Given the description of an element on the screen output the (x, y) to click on. 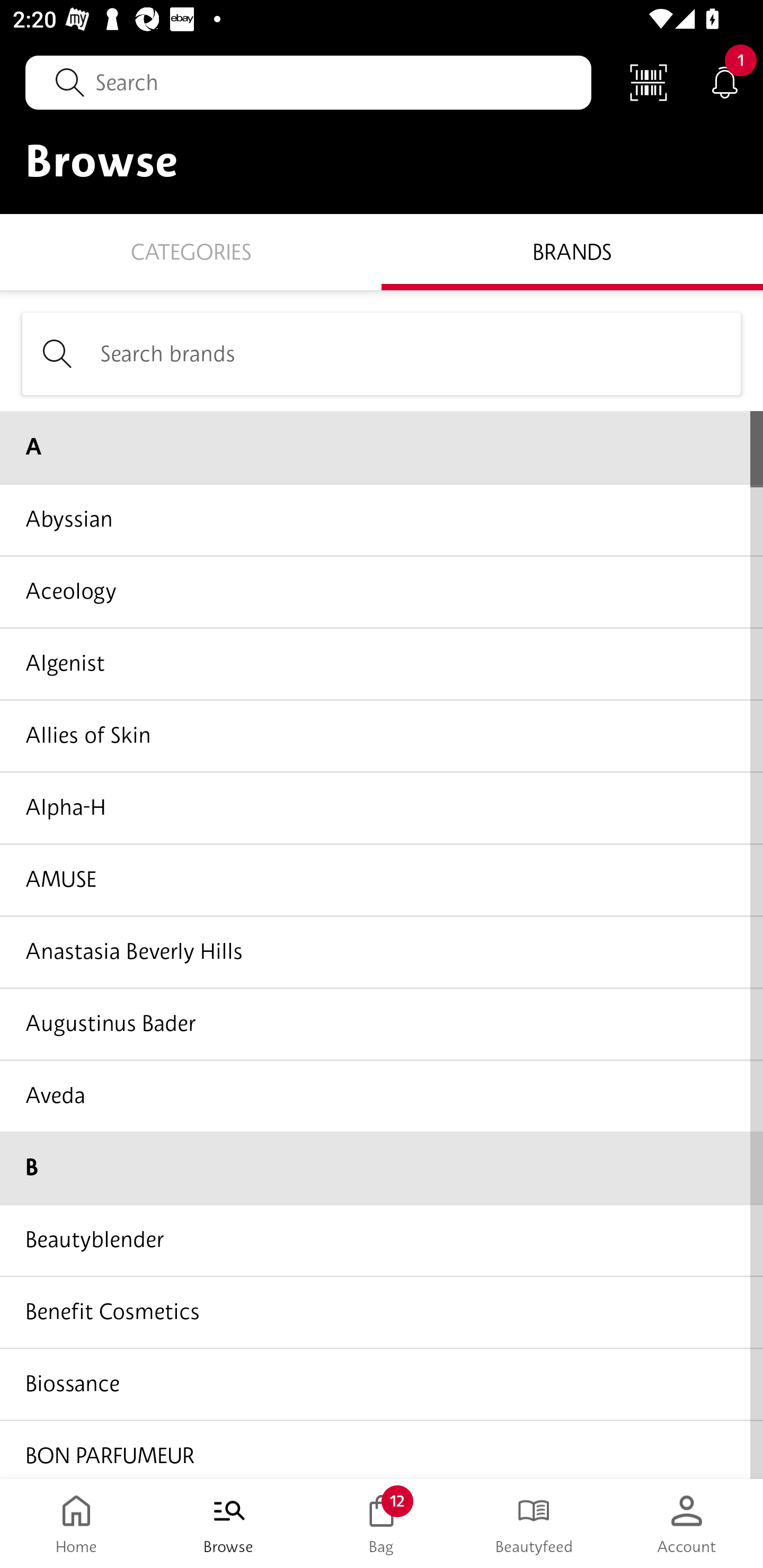
Scan Code (648, 81)
Notifications (724, 81)
Search (308, 81)
Categories CATEGORIES (190, 251)
Search brands (381, 353)
A (381, 446)
Abyssian (381, 518)
Aceology (381, 591)
Algenist (381, 663)
Allies of Skin (381, 735)
Alpha-H (381, 807)
AMUSE (381, 879)
Anastasia Beverly Hills (381, 951)
Augustinus Bader (381, 1023)
Aveda (381, 1095)
B (381, 1168)
Beautyblender (381, 1240)
Benefit Cosmetics (381, 1311)
Biossance (381, 1382)
BON PARFUMEUR (381, 1448)
Home (76, 1523)
Bag 12 Bag (381, 1523)
Beautyfeed (533, 1523)
Account (686, 1523)
